Given the description of an element on the screen output the (x, y) to click on. 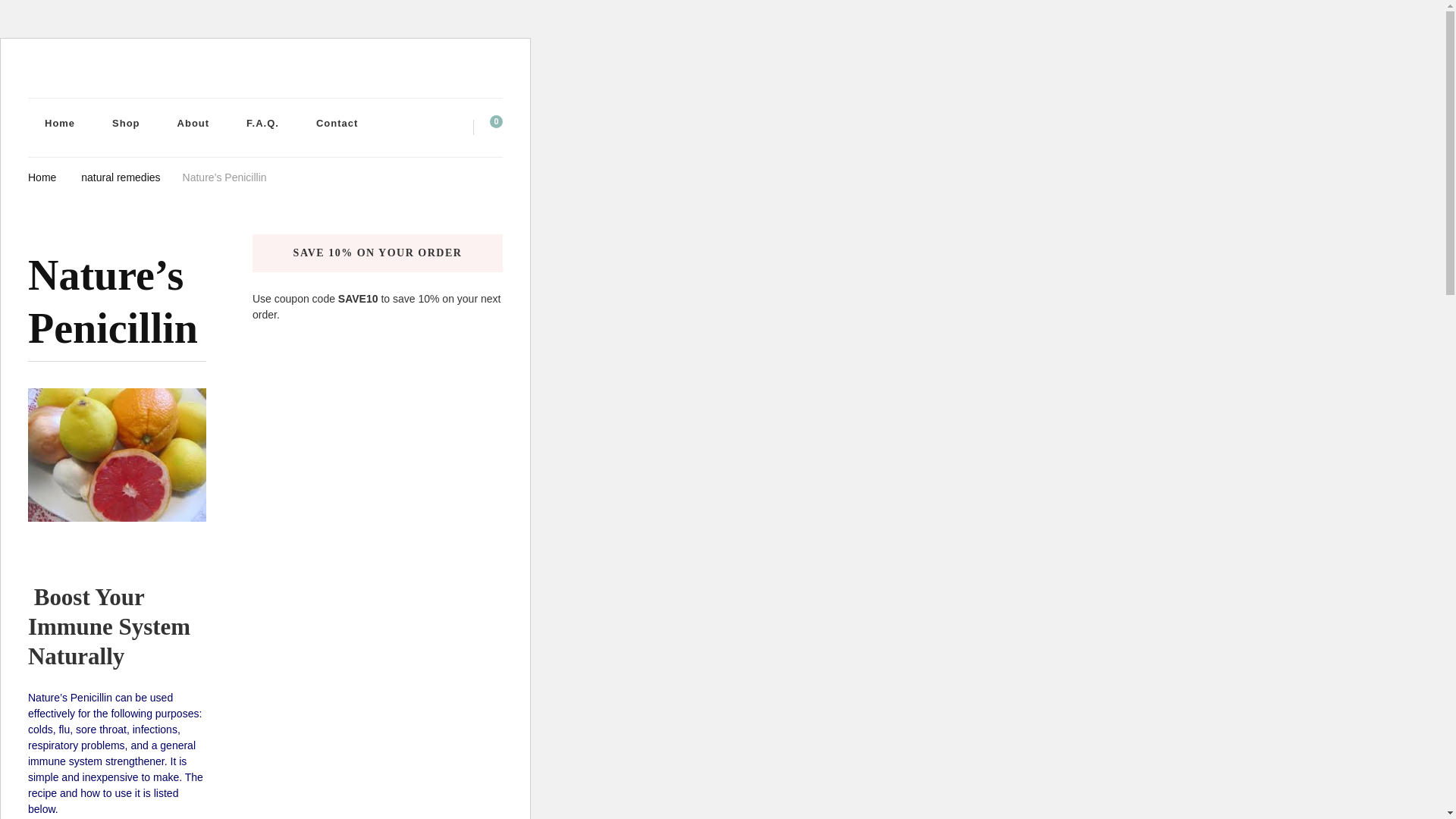
Search (452, 130)
F.A.Q. (262, 123)
natural remedies (120, 176)
Shop (125, 123)
Home (41, 176)
About (193, 123)
Home (59, 123)
Contact Essential Joy Natural Products (336, 123)
Contact (336, 123)
Essential Joy Natural Products (97, 101)
